Given the description of an element on the screen output the (x, y) to click on. 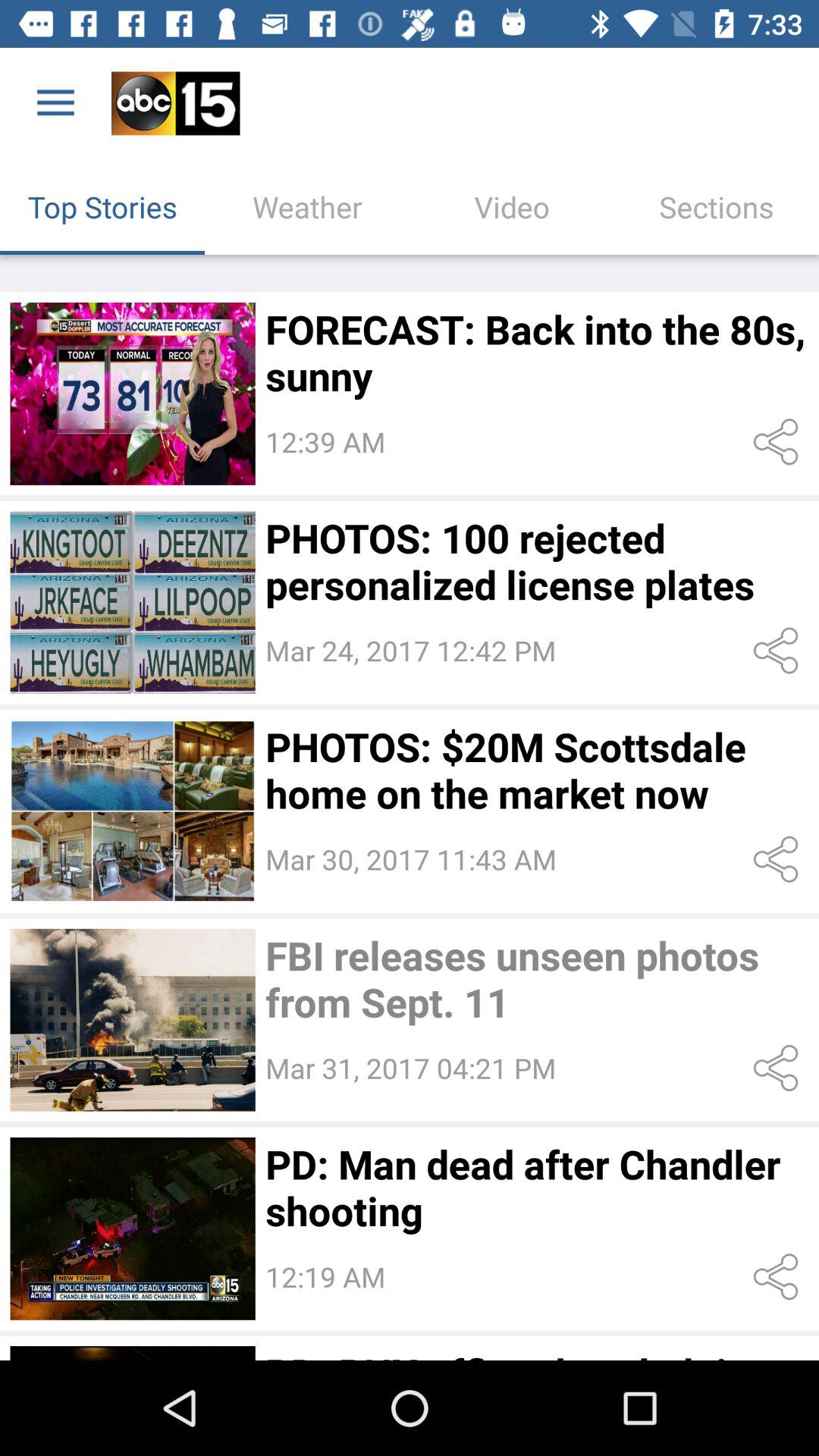
open the icon above top stories icon (55, 103)
